Given the description of an element on the screen output the (x, y) to click on. 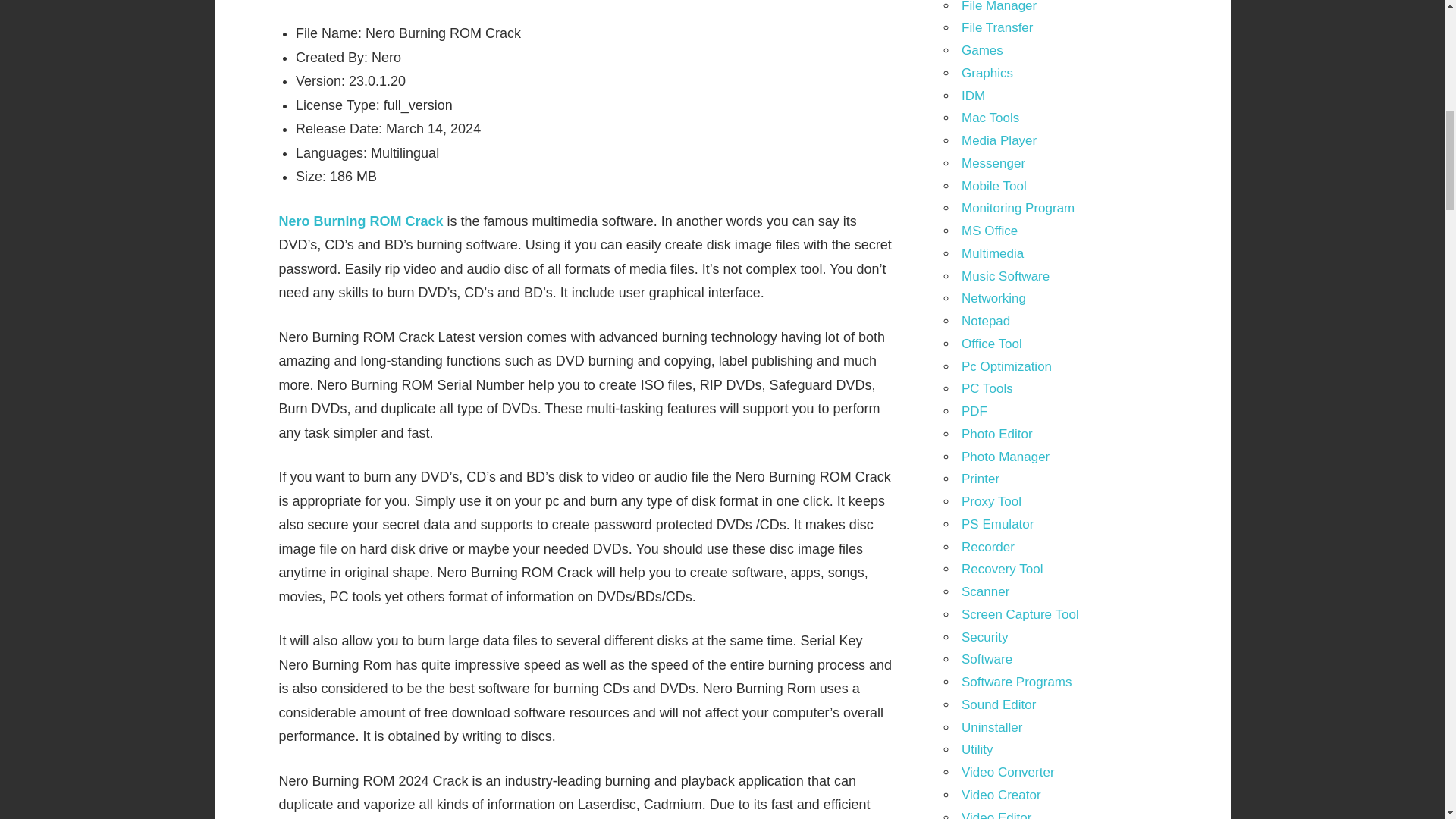
Nero Burning ROM Crack (362, 221)
